Given the description of an element on the screen output the (x, y) to click on. 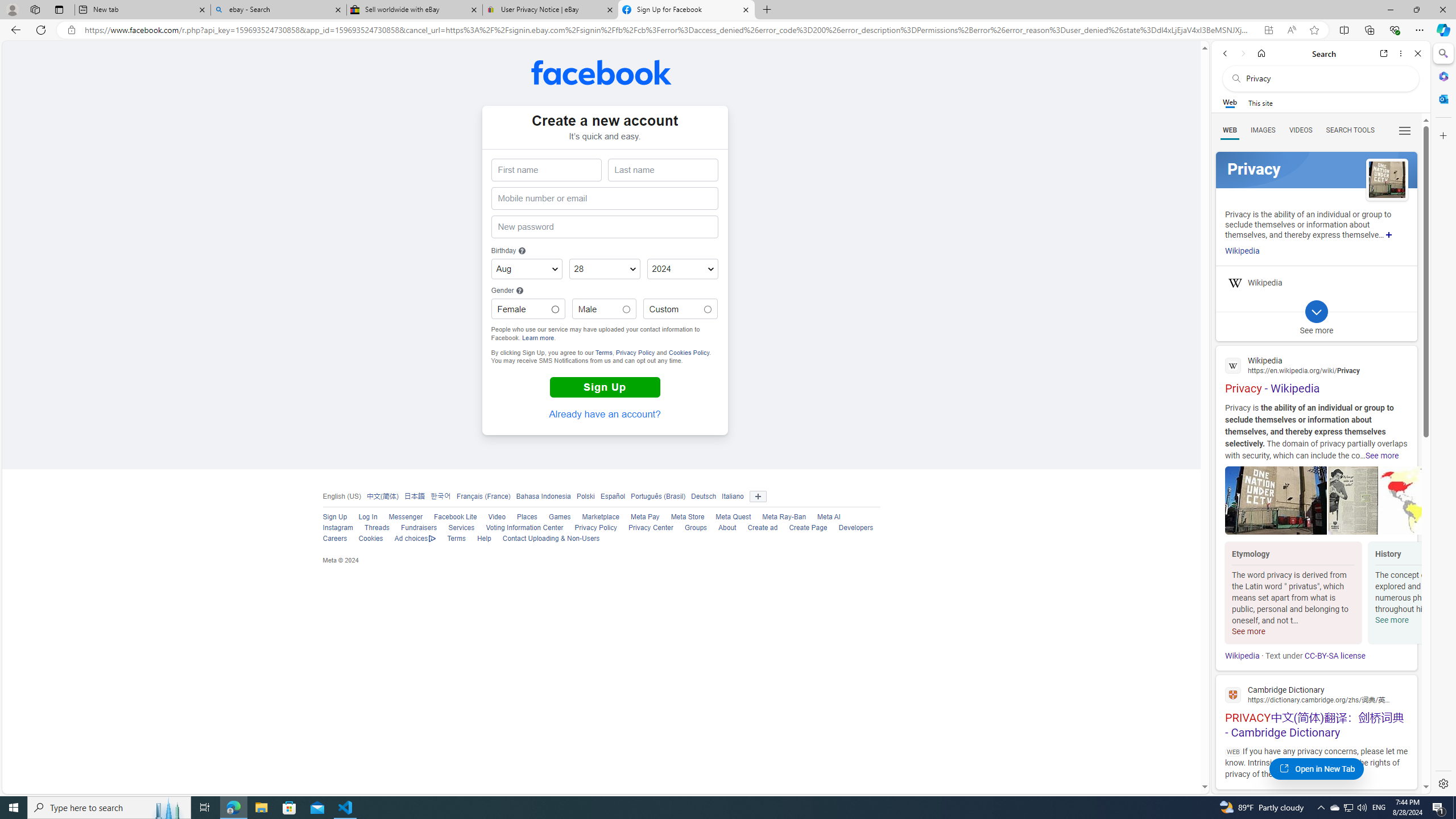
Threads (371, 527)
Games (559, 516)
Facebook (601, 71)
Terms (455, 538)
Deutsch (703, 496)
Class: b_serphb (1404, 130)
Class: spl_logobg (1315, 169)
Terms (450, 538)
Wikipedia (1241, 655)
New password (603, 227)
